Given the description of an element on the screen output the (x, y) to click on. 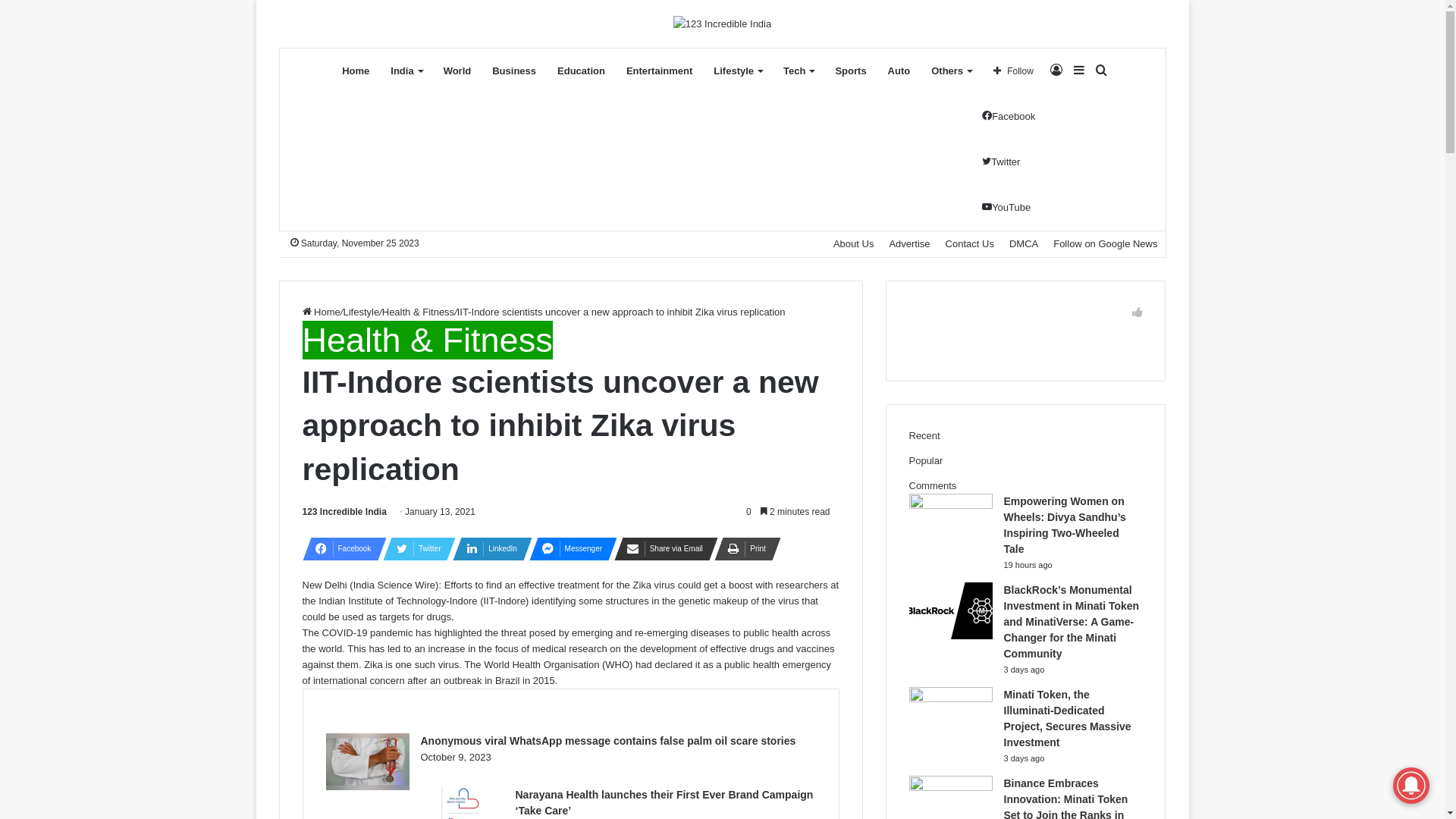
Lifestyle Element type: text (360, 311)
123 Incredible India Element type: hover (722, 23)
Tech Element type: text (798, 71)
Education Element type: text (580, 71)
131
Fans Element type: text (1025, 338)
World Element type: text (457, 71)
Recent Element type: text (923, 435)
Follow on Google News Element type: text (1104, 243)
Home Element type: text (355, 71)
Follow Element type: text (1013, 71)
DMCA Element type: text (1023, 243)
Print Element type: text (742, 548)
Others Element type: text (951, 71)
Search for Element type: text (1101, 71)
Sports Element type: text (850, 71)
Contact Us Element type: text (969, 243)
Facebook Element type: text (1008, 116)
Business Element type: text (513, 71)
YouTube Element type: text (1006, 207)
Share via Email Element type: text (661, 548)
Entertainment Element type: text (658, 71)
123 Incredible India Element type: text (343, 511)
Popular Element type: text (925, 460)
Lifestyle Element type: text (737, 71)
Facebook Element type: text (338, 548)
Health & Fitness Element type: text (418, 311)
Home Element type: text (320, 311)
Twitter Element type: text (414, 548)
Twitter Element type: text (1000, 161)
Health & Fitness Element type: text (426, 339)
Log In Element type: text (1055, 71)
LinkedIn Element type: text (487, 548)
Messenger Element type: text (568, 548)
Sidebar Element type: text (1078, 71)
Comments Element type: text (932, 485)
About Us Element type: text (853, 243)
Advertise Element type: text (909, 243)
Auto Element type: text (899, 71)
India Element type: text (405, 71)
